Given the description of an element on the screen output the (x, y) to click on. 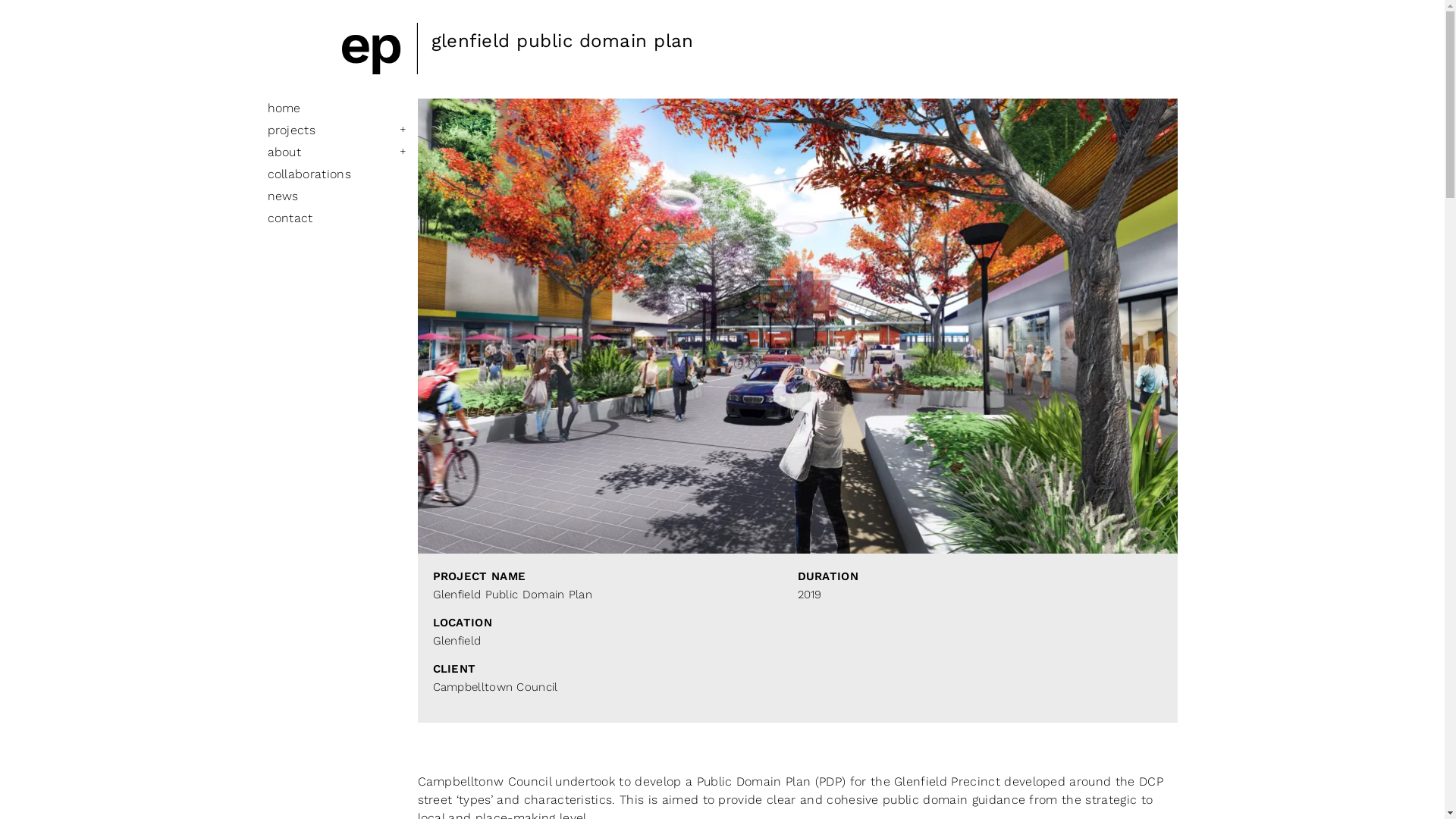
news Element type: text (282, 195)
home Element type: text (283, 107)
about Element type: text (283, 151)
contact Element type: text (289, 217)
collaborations Element type: text (308, 173)
projects Element type: text (290, 129)
